Given the description of an element on the screen output the (x, y) to click on. 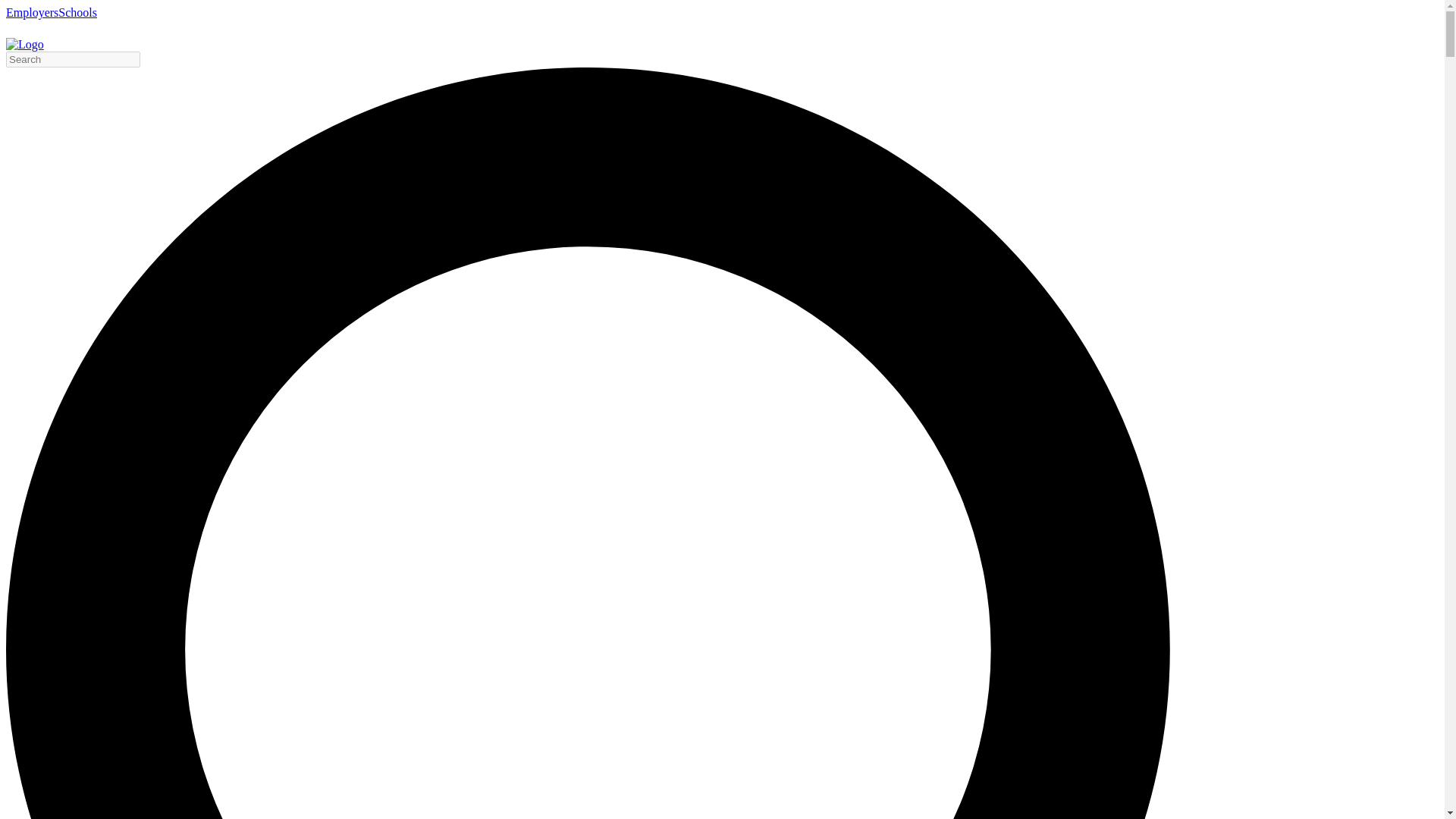
Schools (77, 11)
Employers (31, 11)
